Given the description of an element on the screen output the (x, y) to click on. 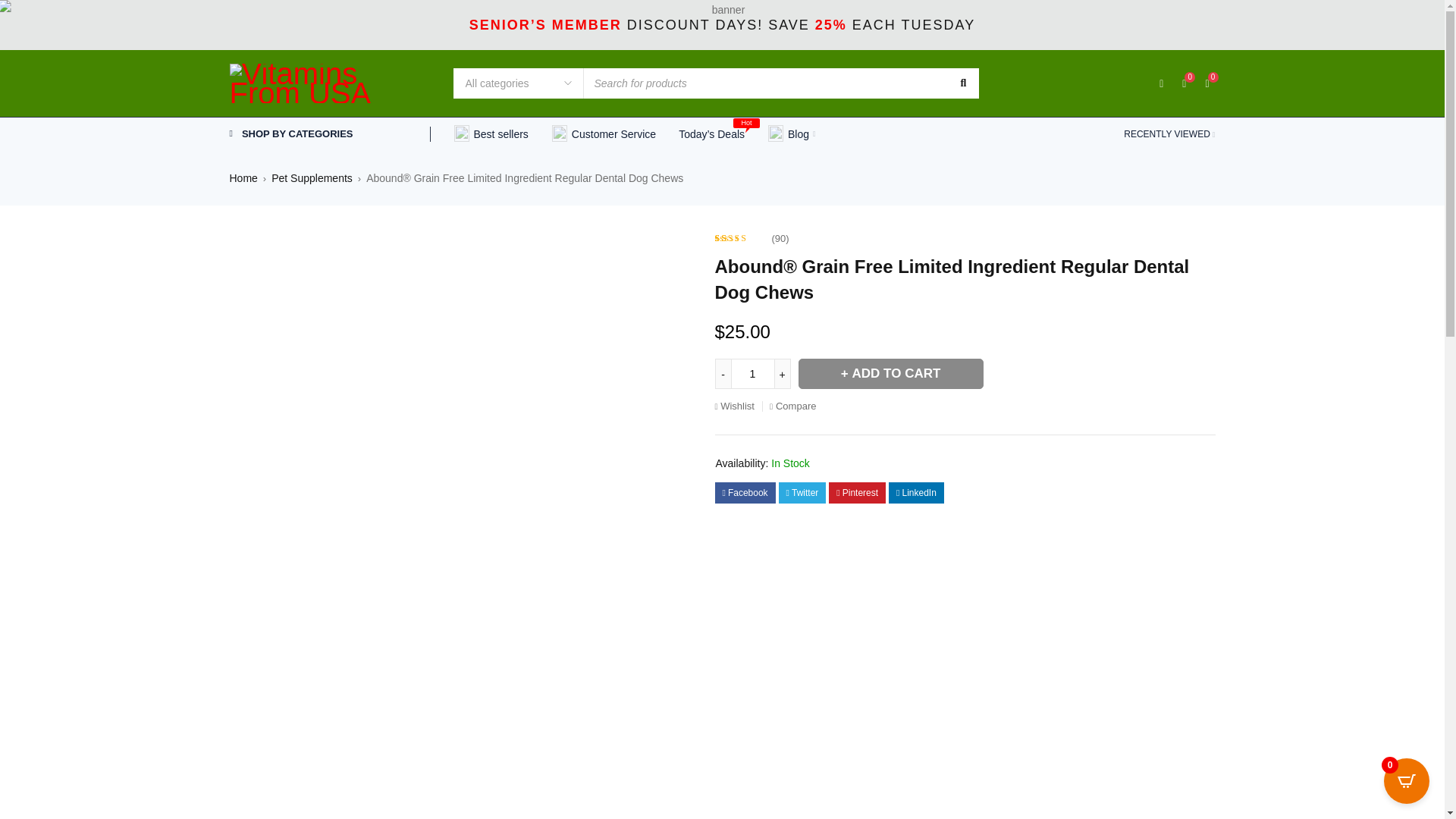
Customer Service (603, 133)
Vitamins From USA (328, 83)
0 (1184, 82)
Search (962, 82)
Blog (791, 133)
Search (962, 82)
0 (1206, 82)
1 (752, 373)
- (722, 373)
View your shopping cart (1206, 82)
Wishlist (1184, 82)
Best sellers (490, 133)
Search (962, 82)
